Given the description of an element on the screen output the (x, y) to click on. 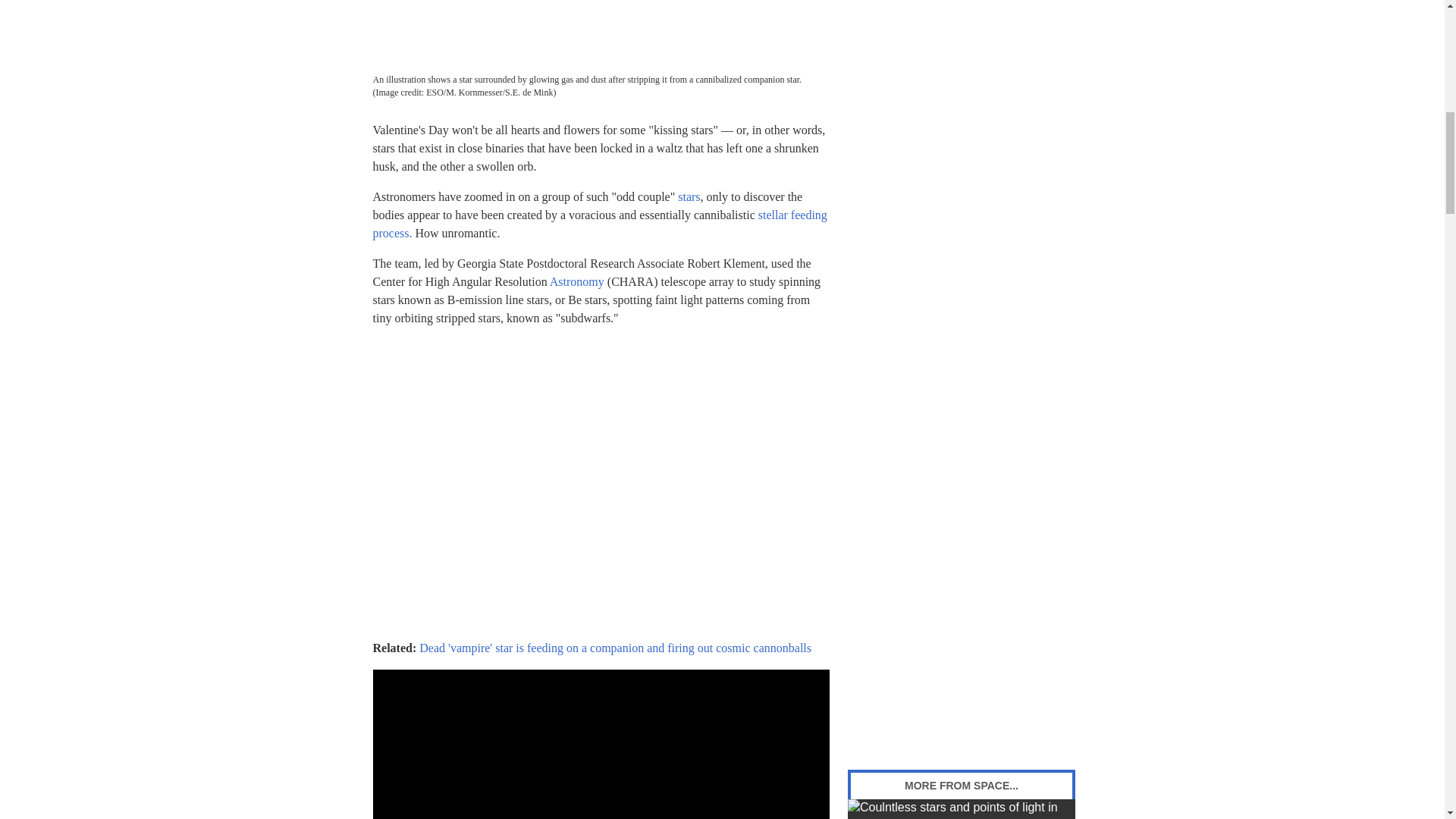
X-rays reveal secret gas in huge and distant galaxy cluster  (961, 809)
